Given the description of an element on the screen output the (x, y) to click on. 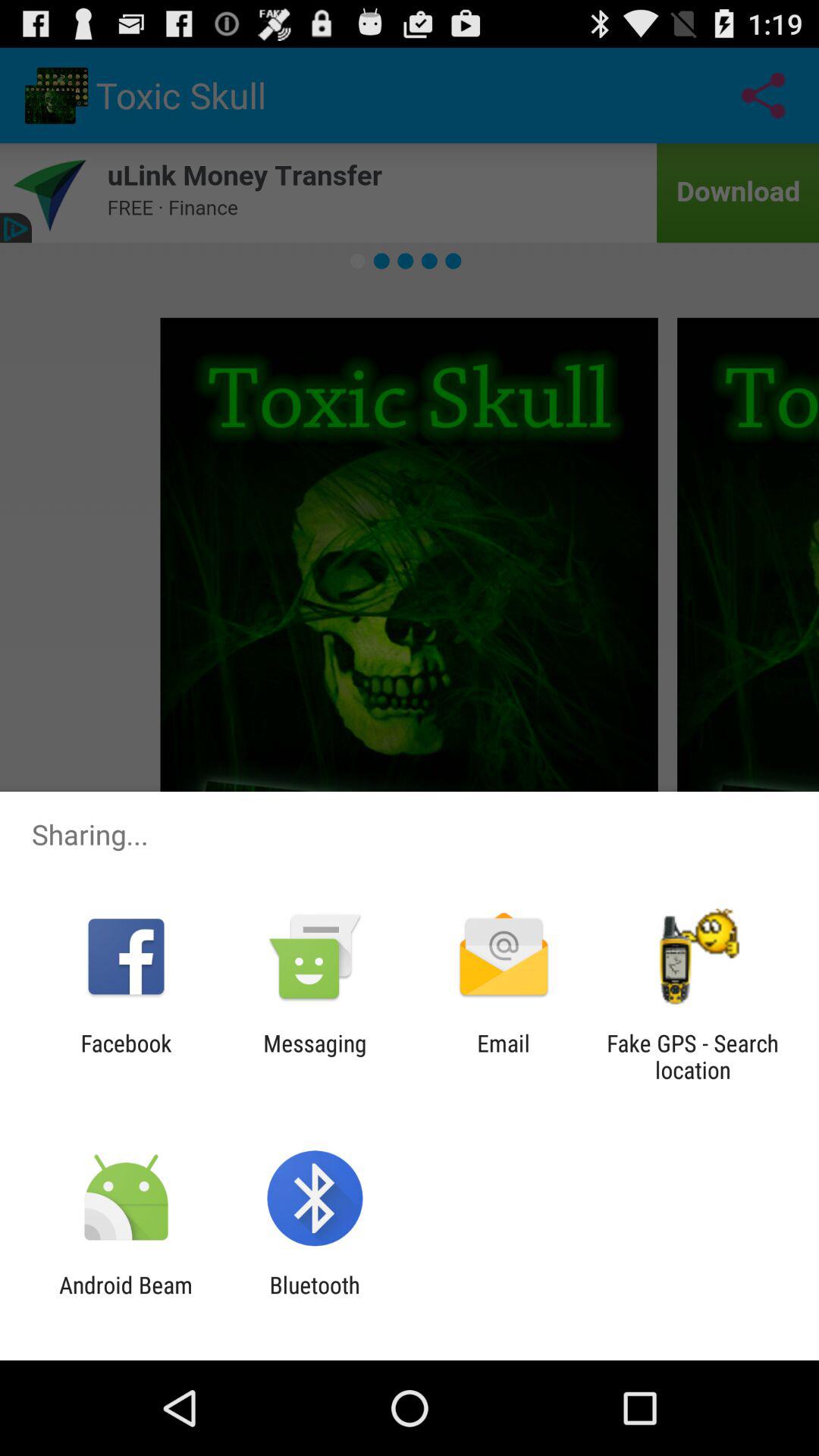
choose facebook item (125, 1056)
